Given the description of an element on the screen output the (x, y) to click on. 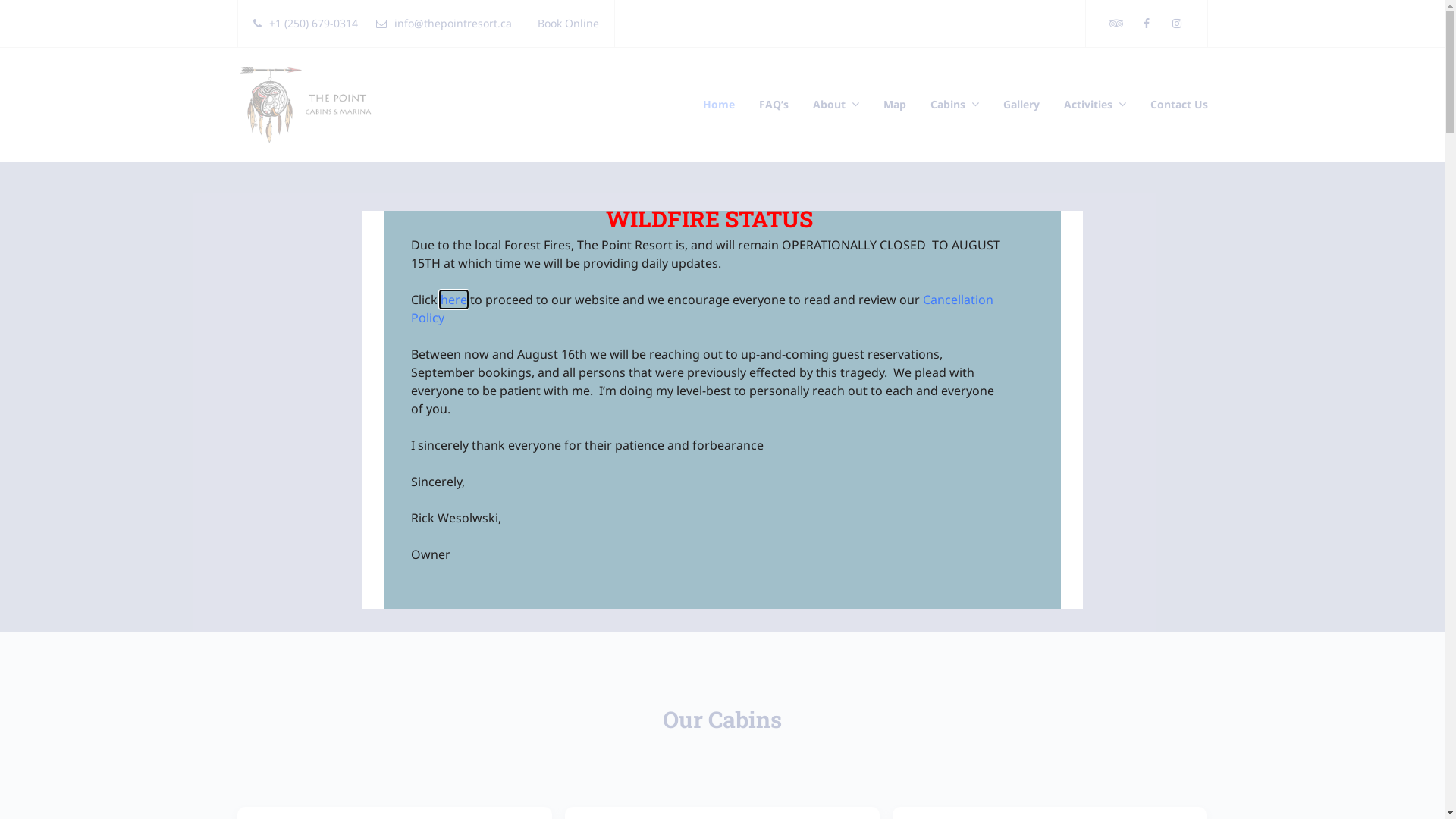
+1 (250) 679-0314 Element type: text (305, 23)
Gallery Element type: text (1020, 104)
Facebook Element type: text (1146, 23)
Search Element type: text (948, 507)
Contact Us Element type: text (1172, 104)
Activities Element type: text (1094, 104)
Book Online Element type: text (563, 23)
Tripadvisor Element type: text (1116, 23)
Cancellation Policy Element type: text (702, 308)
info@thepointresort.ca Element type: text (443, 23)
About Element type: text (835, 104)
Your Adams Lake Destination Getaway Element type: text (310, 103)
here Element type: text (453, 299)
Map Element type: text (893, 104)
Instagram Element type: text (1176, 23)
Home Element type: text (724, 104)
Cabins Element type: text (953, 104)
